Given the description of an element on the screen output the (x, y) to click on. 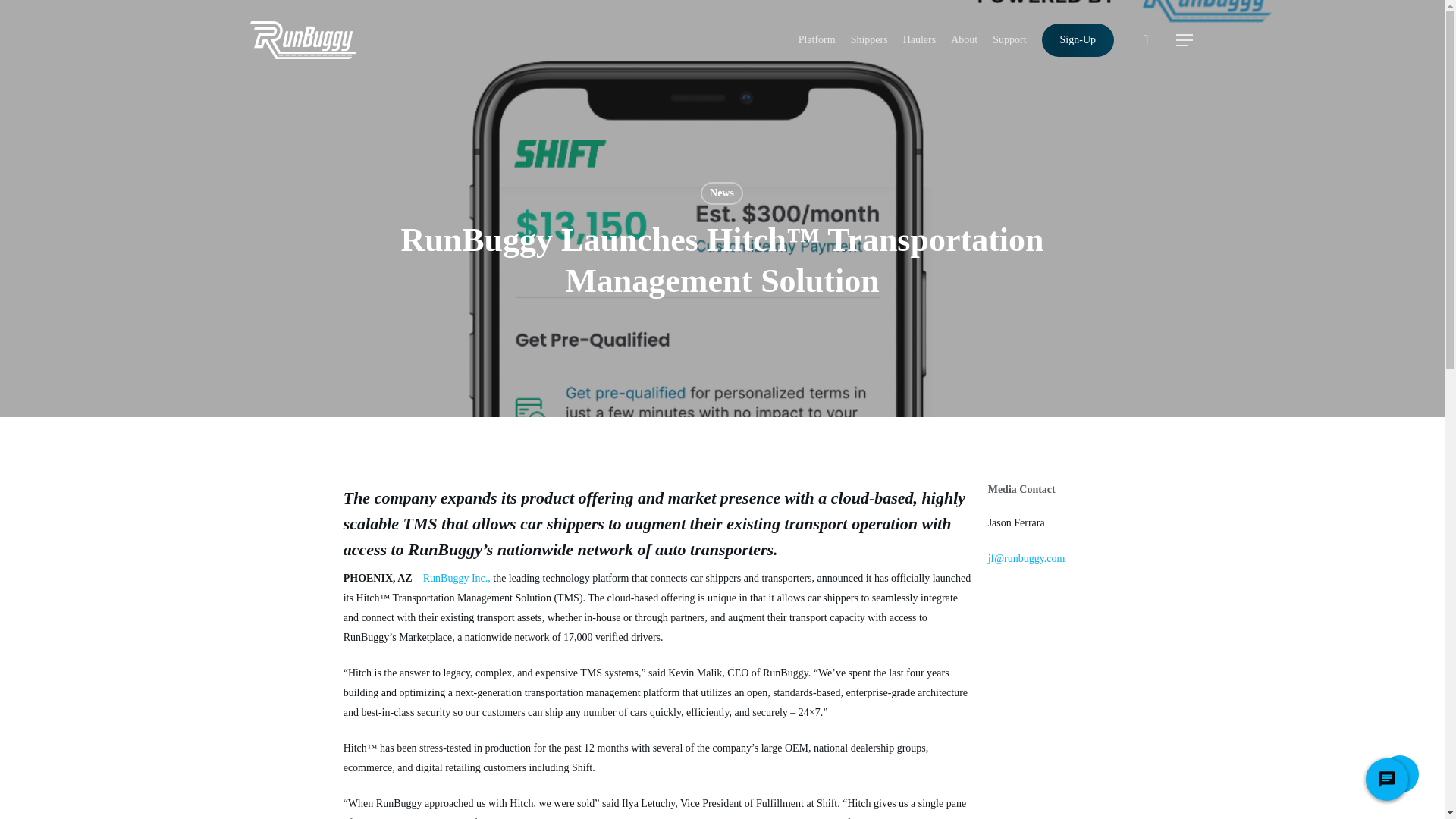
Menu (1184, 39)
Sign-Up (1077, 39)
Haulers (919, 39)
Platform (816, 39)
RunBuggy Inc., (456, 577)
account (1145, 39)
Support (1009, 39)
Messenger Launcher (1386, 782)
About (963, 39)
Shippers (869, 39)
News (721, 192)
